Given the description of an element on the screen output the (x, y) to click on. 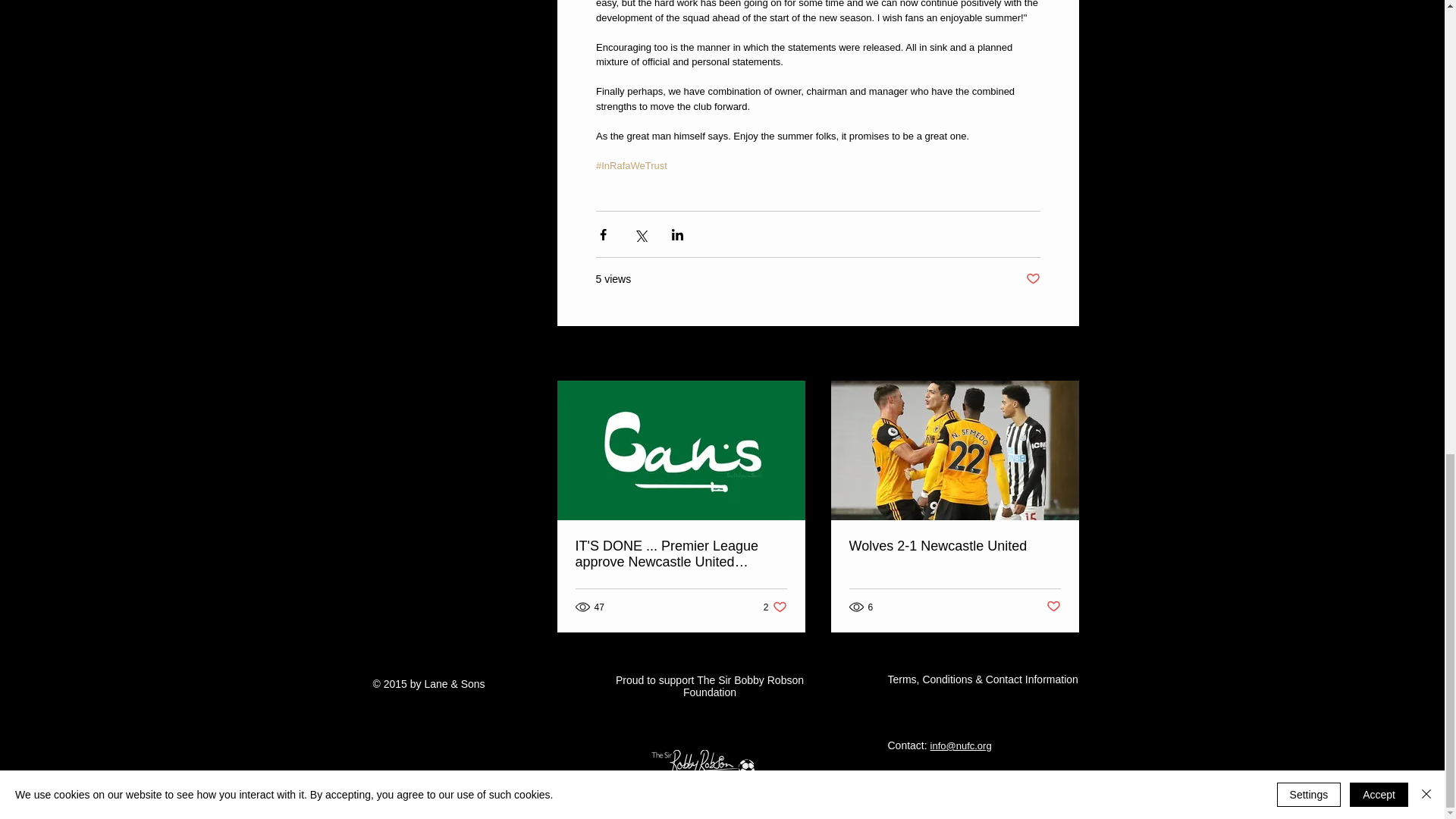
See All (774, 606)
Wolves 2-1 Newcastle United (1061, 354)
Post not marked as liked (954, 546)
Post not marked as liked (1053, 606)
